Given the description of an element on the screen output the (x, y) to click on. 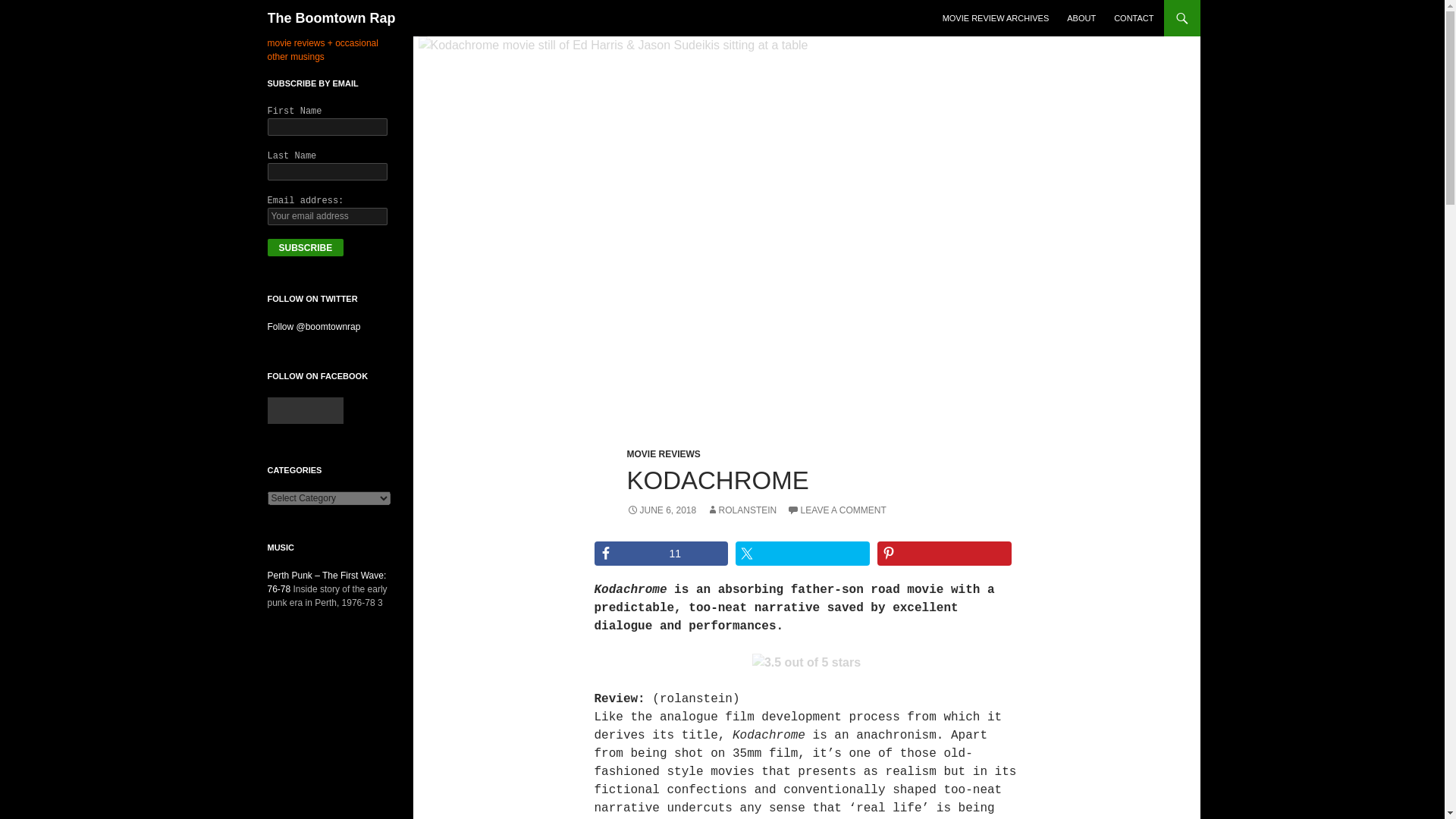
ABOUT (1081, 18)
Share on Twitter (802, 553)
The Boomtown Rap (330, 18)
JUNE 6, 2018 (660, 510)
LEAVE A COMMENT (836, 510)
MOVIE REVIEWS (663, 453)
CONTACT (1133, 18)
ROLANSTEIN (741, 510)
Inside story of the early punk era in Perth, 1976-78 (325, 582)
Subscribe (304, 247)
Share on Pinterest (944, 553)
11 (661, 553)
Share on Facebook (661, 553)
MOVIE REVIEW ARCHIVES (995, 18)
Subscribe (304, 247)
